Given the description of an element on the screen output the (x, y) to click on. 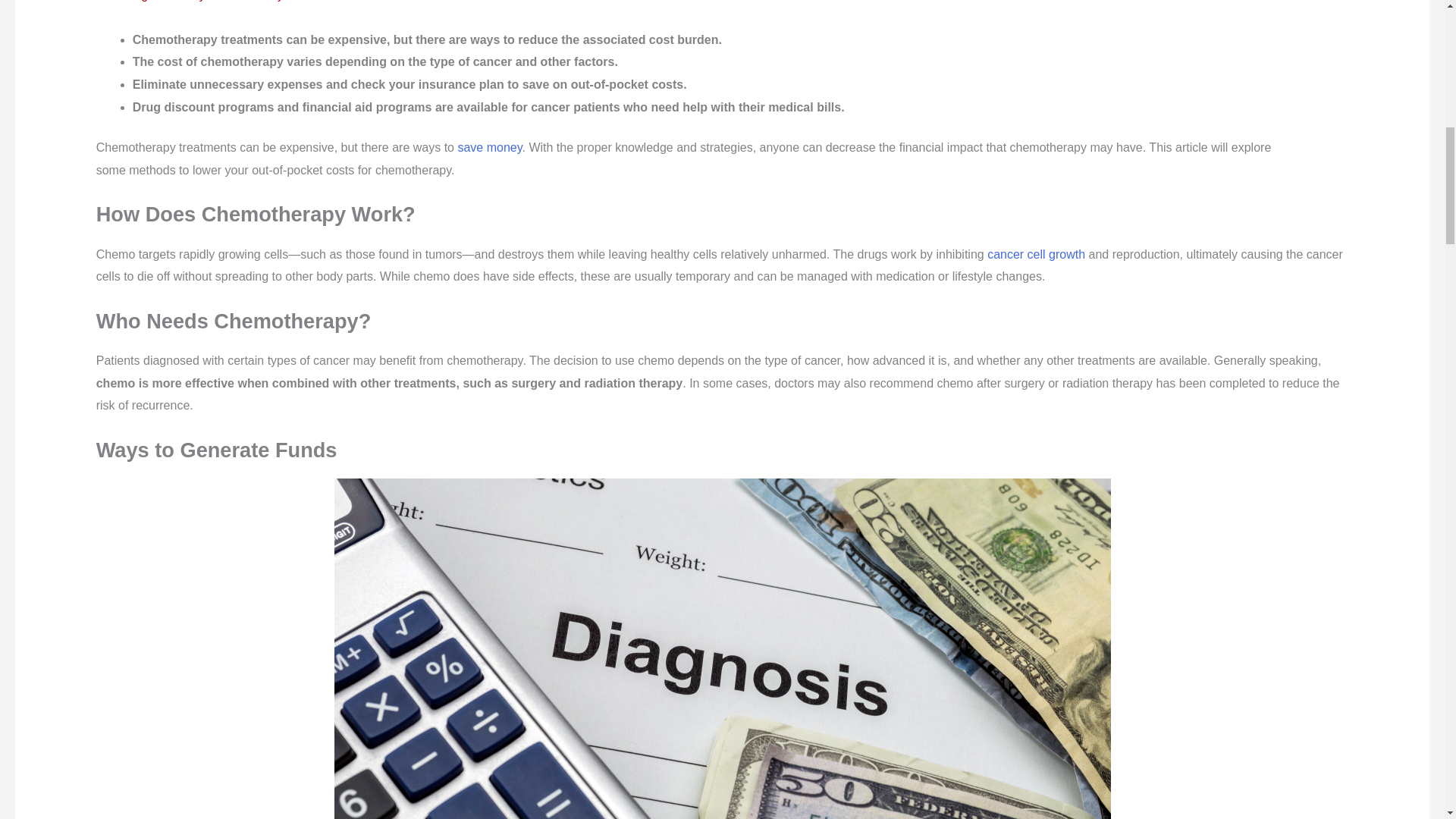
Uncategorized (141, 0)
cancer cell growth (1035, 254)
save money (489, 146)
Jonathan Reynolds (260, 0)
View all posts by Jonathan Reynolds (260, 0)
